Given the description of an element on the screen output the (x, y) to click on. 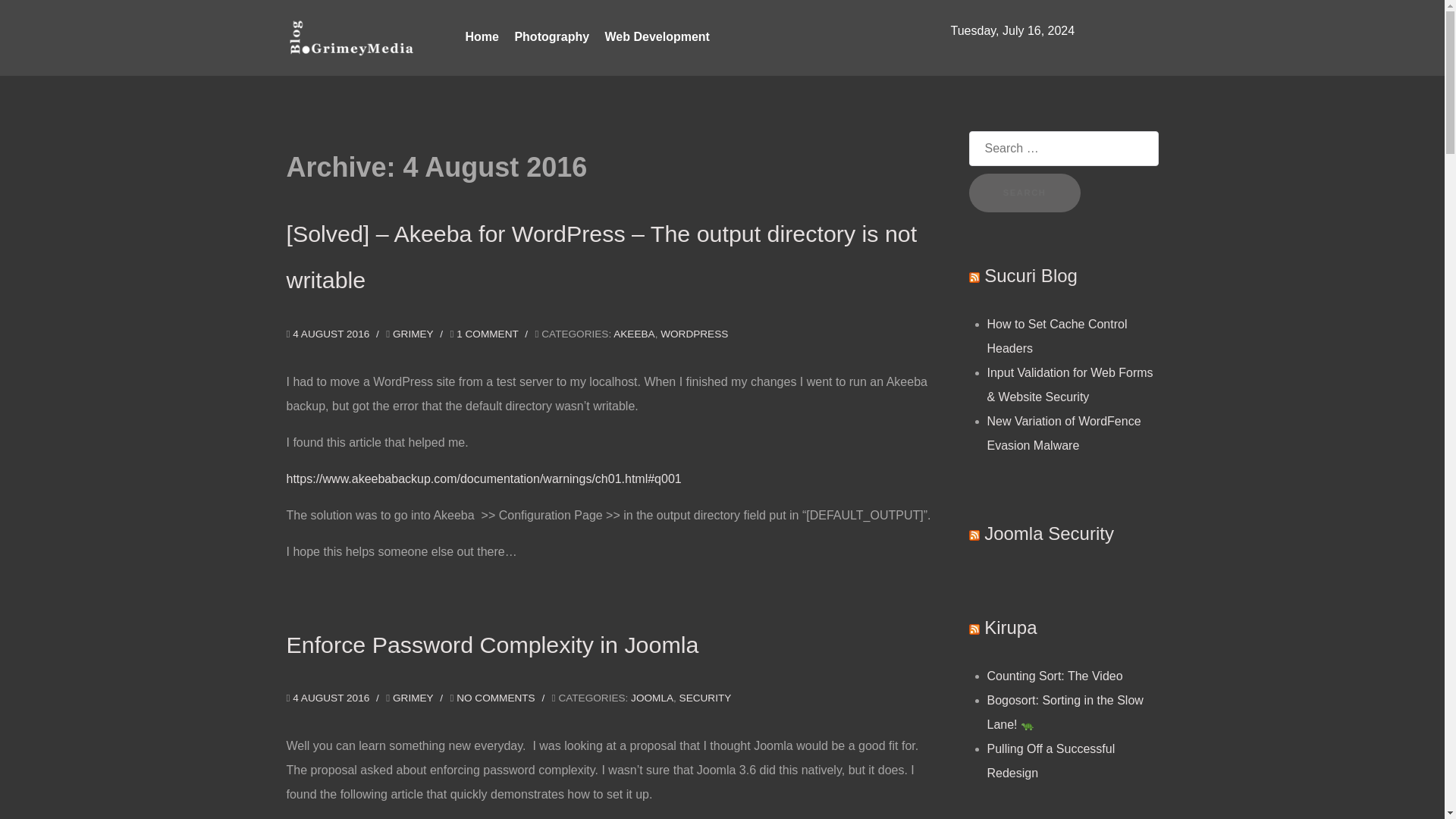
New Variation of WordFence Evasion Malware (1064, 433)
Web Development (657, 38)
Akeeba (632, 333)
Grimey (412, 333)
Kirupa (1010, 627)
Search (1024, 192)
Search (1024, 192)
SECURITY (705, 697)
AKEEBA (632, 333)
1 (487, 333)
Joomla Security (1048, 533)
Joomla (651, 697)
4 AUGUST 2016 (332, 333)
4 AUGUST 2016 (332, 697)
GRIMEY (412, 333)
